Given the description of an element on the screen output the (x, y) to click on. 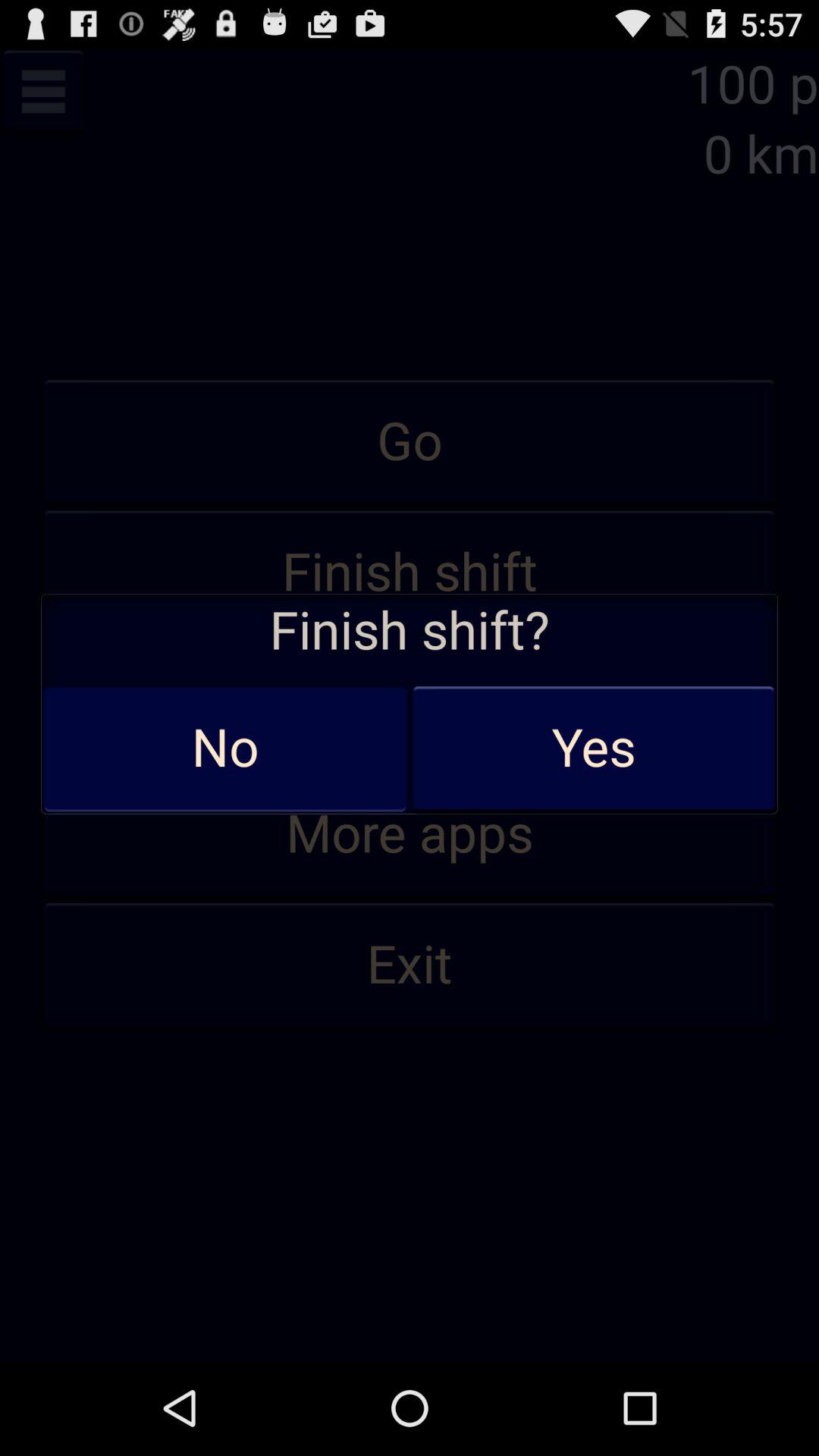
jump to exit (409, 965)
